Given the description of an element on the screen output the (x, y) to click on. 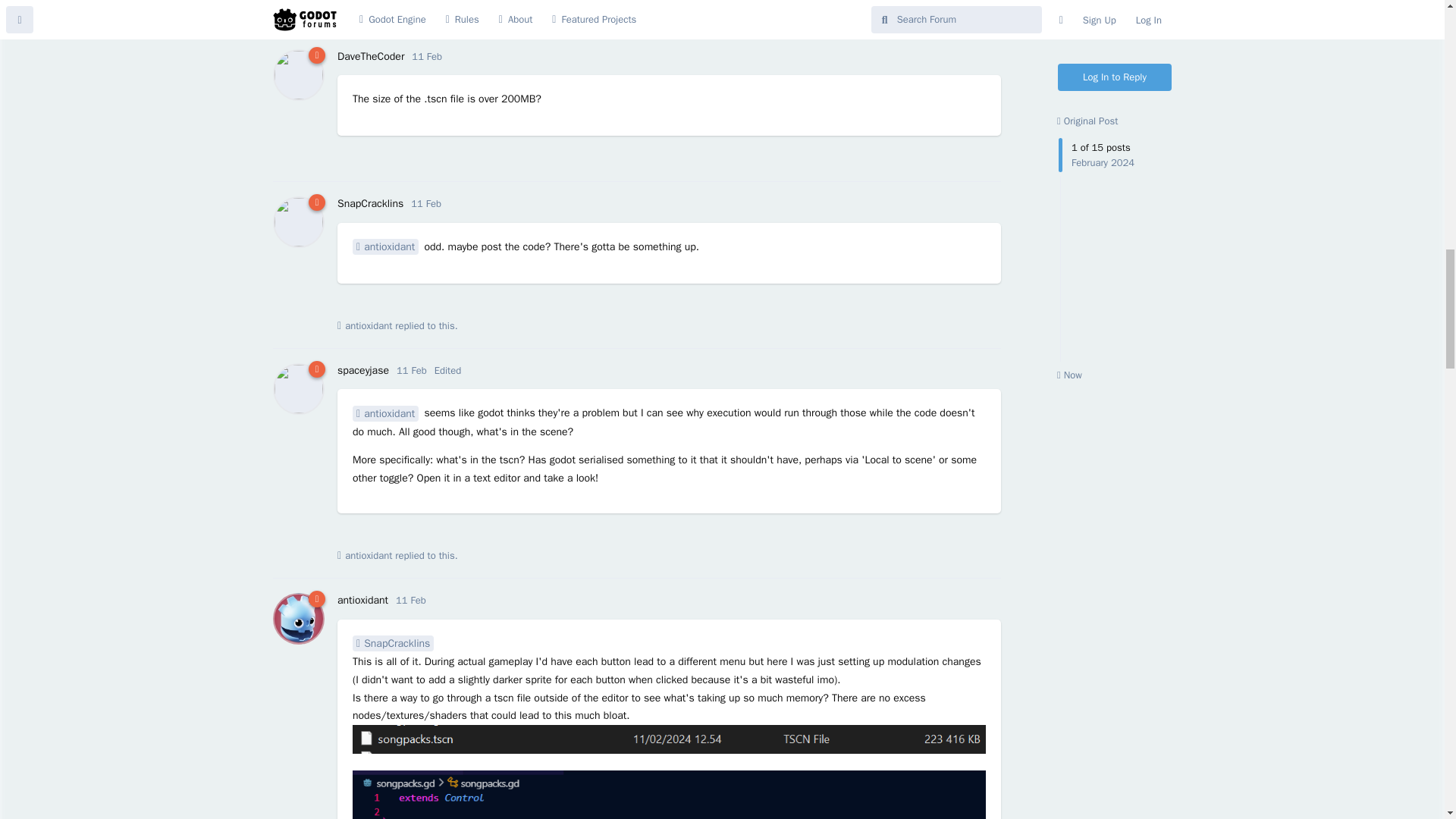
Sunday, February 11, 2024 7:10 AM (427, 56)
Sunday, February 11, 2024 8:54 AM (425, 203)
11 Feb (425, 203)
DaveTheCoder (370, 56)
SnapCracklins (375, 11)
11 Feb (427, 56)
SnapCracklins (370, 203)
Sunday, February 11, 2024 6:58 PM (411, 369)
